Given the description of an element on the screen output the (x, y) to click on. 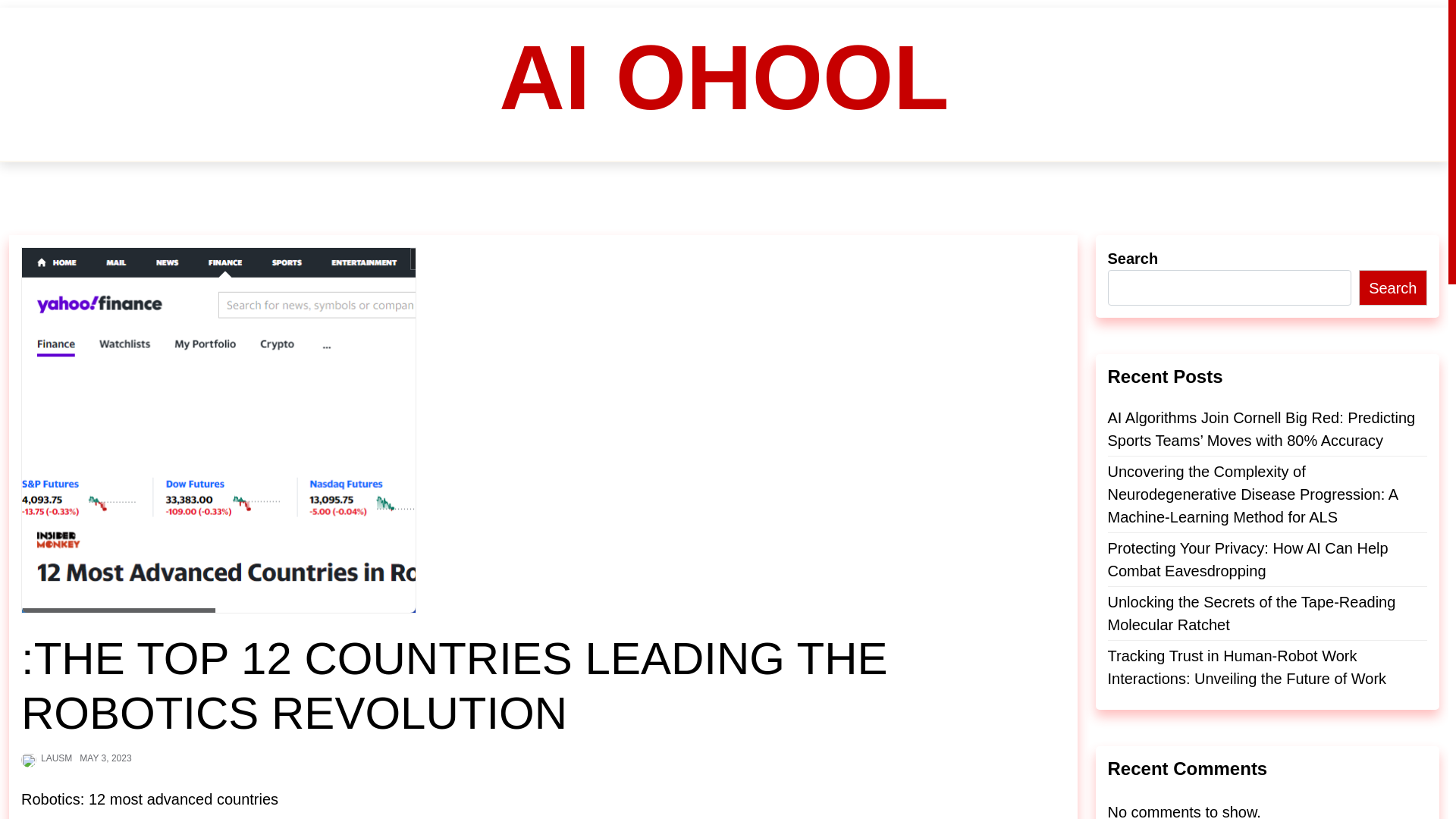
Search (1392, 287)
LAUSM (55, 757)
AI OHOOL (724, 76)
Unlocking the Secrets of the Tape-Reading Molecular Ratchet (1266, 613)
